Given the description of an element on the screen output the (x, y) to click on. 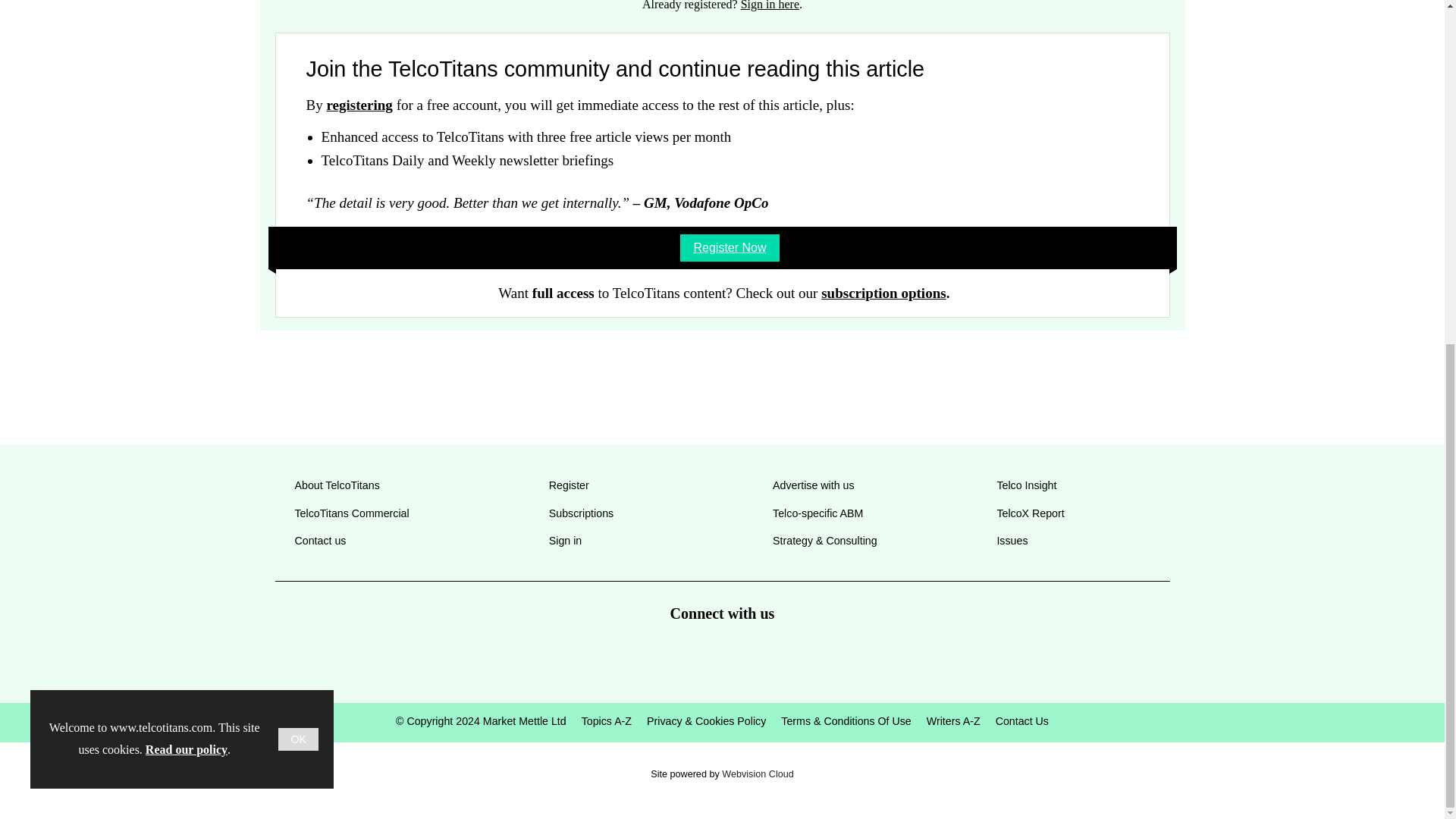
Email us (776, 656)
OK (298, 149)
Connect with us on LinkedIn (721, 656)
Connect with us on Twitter (667, 656)
Read our policy (186, 160)
